Given the description of an element on the screen output the (x, y) to click on. 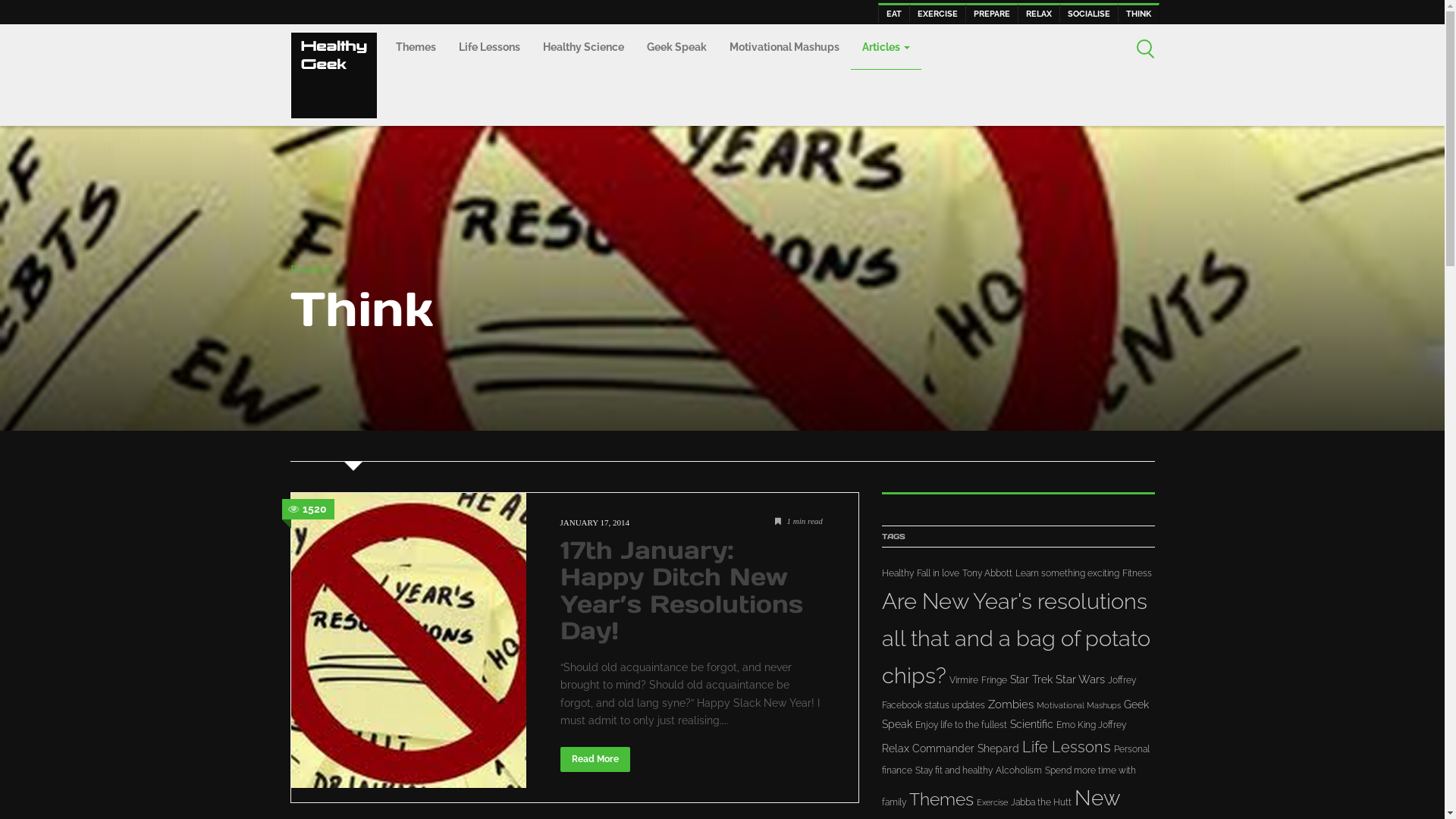
Spend more time with family Element type: text (1008, 786)
PREPARE Element type: text (990, 12)
Star Trek Element type: text (1031, 679)
Scientific Element type: text (1031, 724)
EXERCISE Element type: text (936, 12)
Joffrey Element type: text (1121, 679)
Enjoy life to the fullest Element type: text (960, 724)
Geek Speak Element type: text (676, 48)
Fringe Element type: text (994, 679)
Jabba the Hutt Element type: text (1040, 802)
Virmire Element type: text (963, 679)
Star Wars Element type: text (1079, 679)
Healthy Science Element type: text (582, 48)
Exercise Element type: text (991, 801)
SOCIALISE Element type: text (1087, 12)
Facebook status updates Element type: text (932, 704)
Personal finance Element type: text (1014, 759)
Tony Abbott Element type: text (986, 572)
Motivational Mashups Element type: text (783, 48)
Emo King Joffrey Element type: text (1090, 724)
Learn something exciting Element type: text (1066, 572)
Fall in love Element type: text (937, 572)
Geek Speak Element type: text (1014, 714)
Zombies Element type: text (1009, 704)
Motivational Mashups Element type: text (1077, 704)
Commander Shepard Element type: text (964, 748)
RELAX Element type: text (1038, 12)
Read More Element type: text (594, 758)
EAT Element type: text (894, 12)
Stay fit and healthy Element type: text (952, 770)
Read More Element type: text (594, 757)
Relax Element type: text (894, 748)
Think Element type: text (360, 308)
THINK Element type: text (1138, 12)
Themes Element type: text (414, 48)
Themes Element type: text (940, 798)
Healthy Element type: text (897, 572)
Fitness Element type: text (1136, 572)
Healthy Geek Element type: hover (332, 74)
Articles Element type: text (885, 47)
Alcoholism Element type: text (1017, 770)
Life Lessons Element type: text (489, 48)
Life Lessons Element type: text (1066, 746)
